Given the description of an element on the screen output the (x, y) to click on. 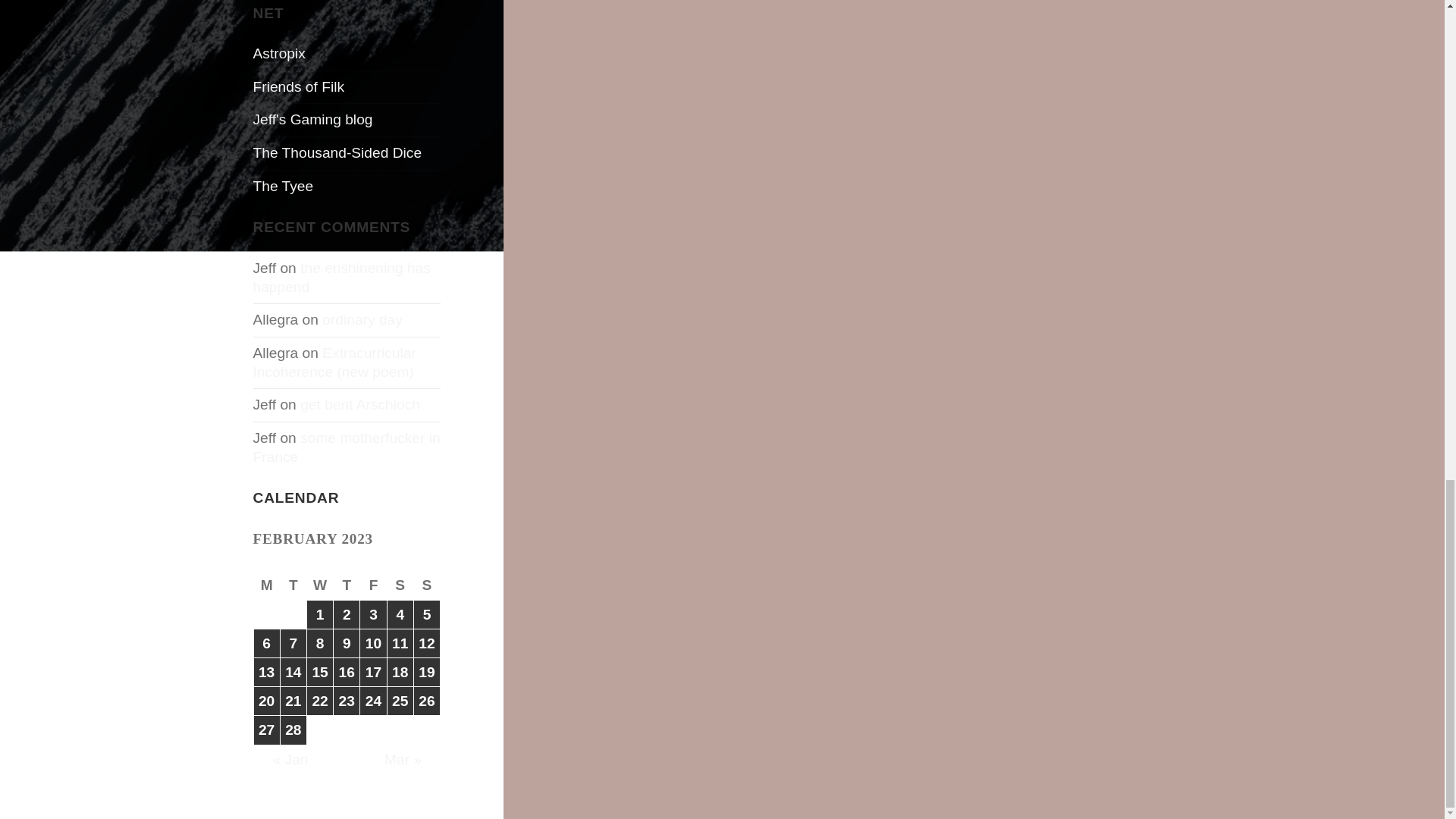
some motherfucker in France (347, 447)
14 (293, 672)
7 (293, 643)
Saturday (400, 584)
2 (346, 614)
Sunday (427, 584)
The Thousand-Sided Dice (337, 152)
Friday (373, 584)
12 (426, 643)
16 (346, 672)
Friends of Filk (298, 86)
the enshinening has happend (341, 277)
18 (400, 672)
13 (266, 672)
